Given the description of an element on the screen output the (x, y) to click on. 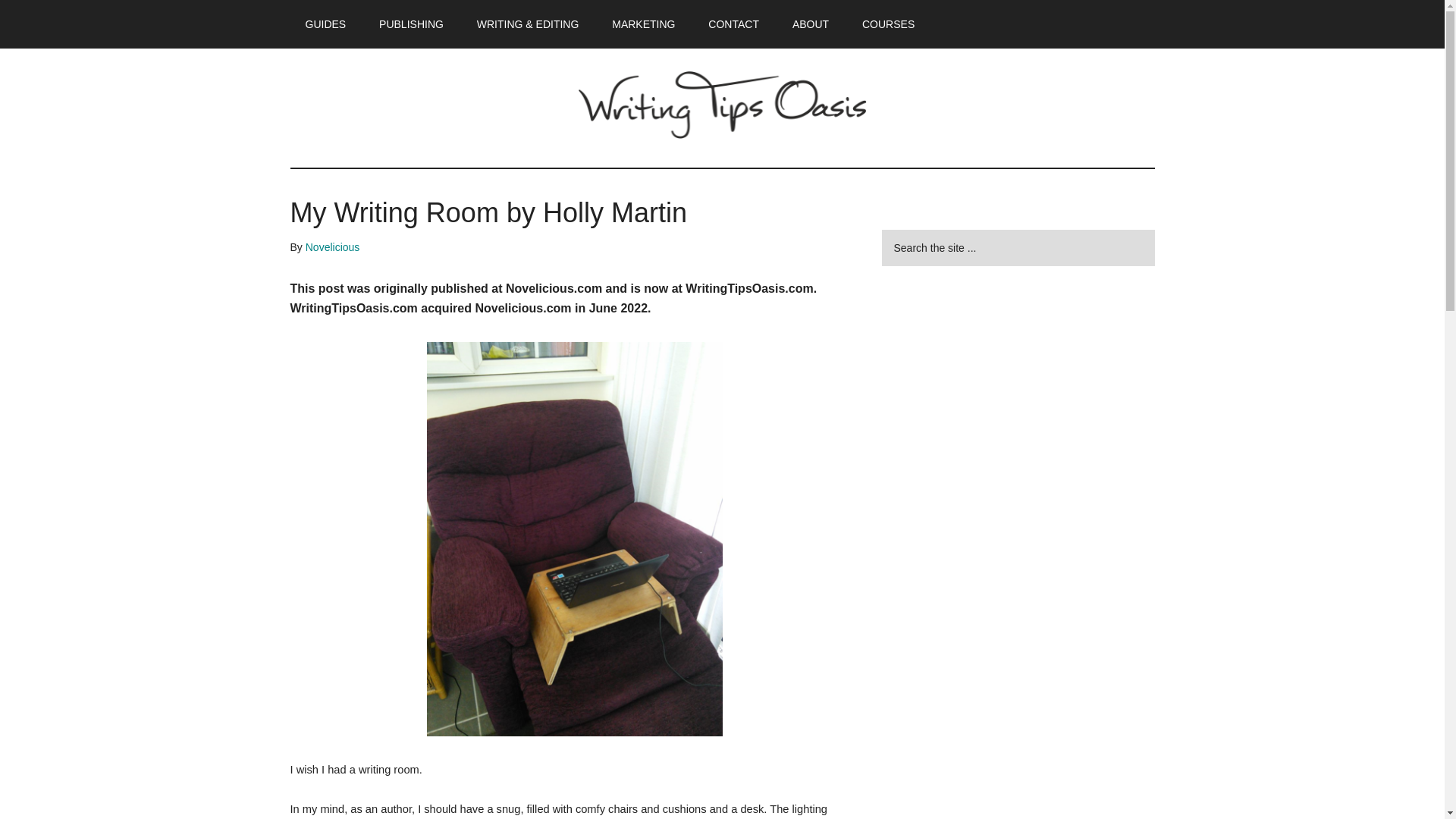
GUIDES (325, 24)
MARKETING (643, 24)
CONTACT (733, 24)
PUBLISHING (411, 24)
COURSES (888, 24)
ABOUT (810, 24)
Novelicious (332, 246)
